Given the description of an element on the screen output the (x, y) to click on. 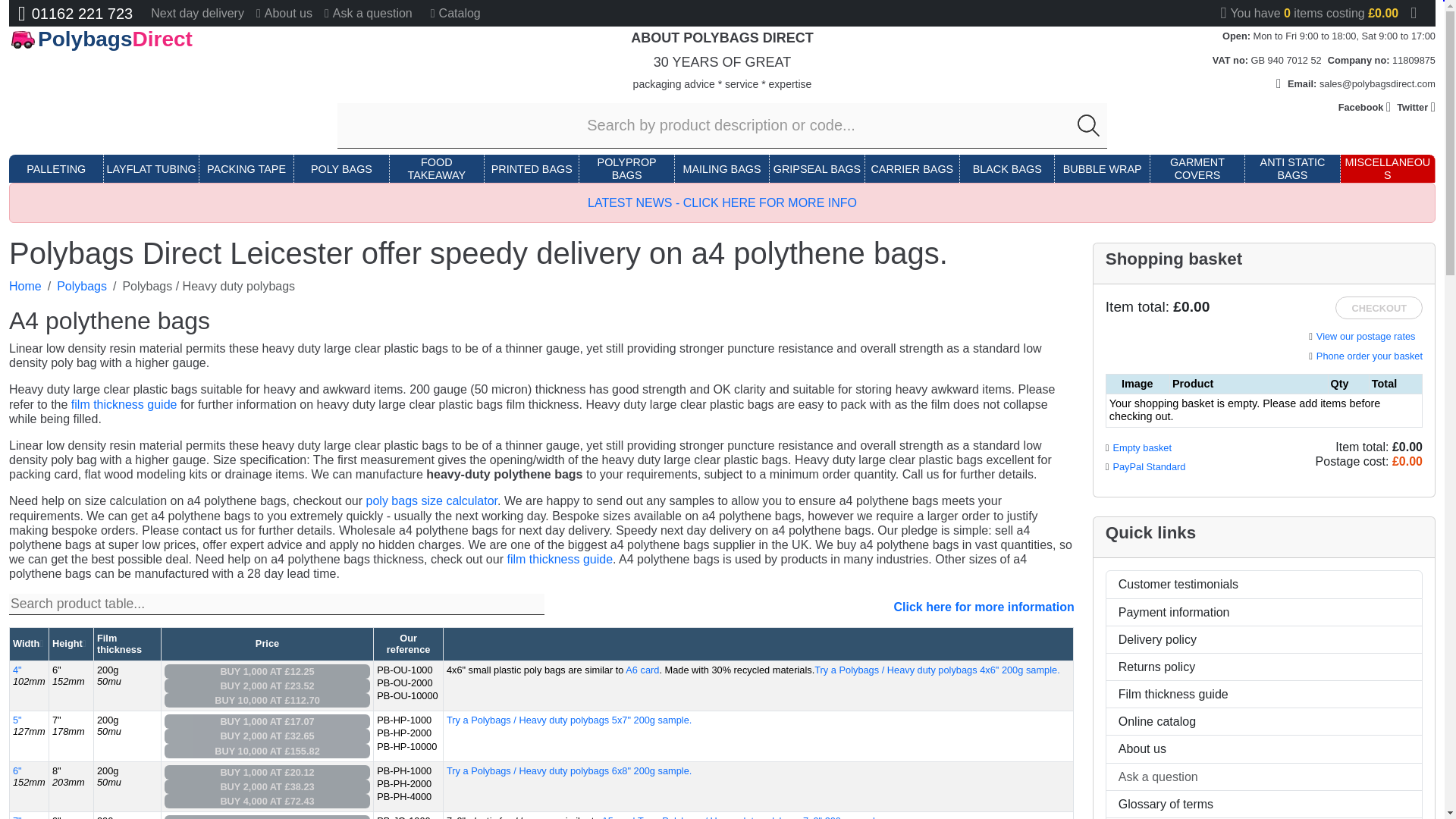
Mon to Fri 9:00 to 18:00, Sat 9:00 to 17:00 (1344, 35)
POLY BAGS (341, 169)
LAYFLAT TUBING (151, 169)
Catalog (455, 13)
About us (284, 13)
GARMENT COVERS (1197, 169)
Facebook (1364, 107)
01162 221 723 (74, 13)
Next day delivery (197, 13)
ANTI STATIC BAGS (1292, 169)
BLACK BAGS (1007, 169)
Twitter (1415, 107)
BUBBLE WRAP (1101, 169)
PolybagsDirect (151, 39)
GRIPSEAL BAGS (816, 169)
